Given the description of an element on the screen output the (x, y) to click on. 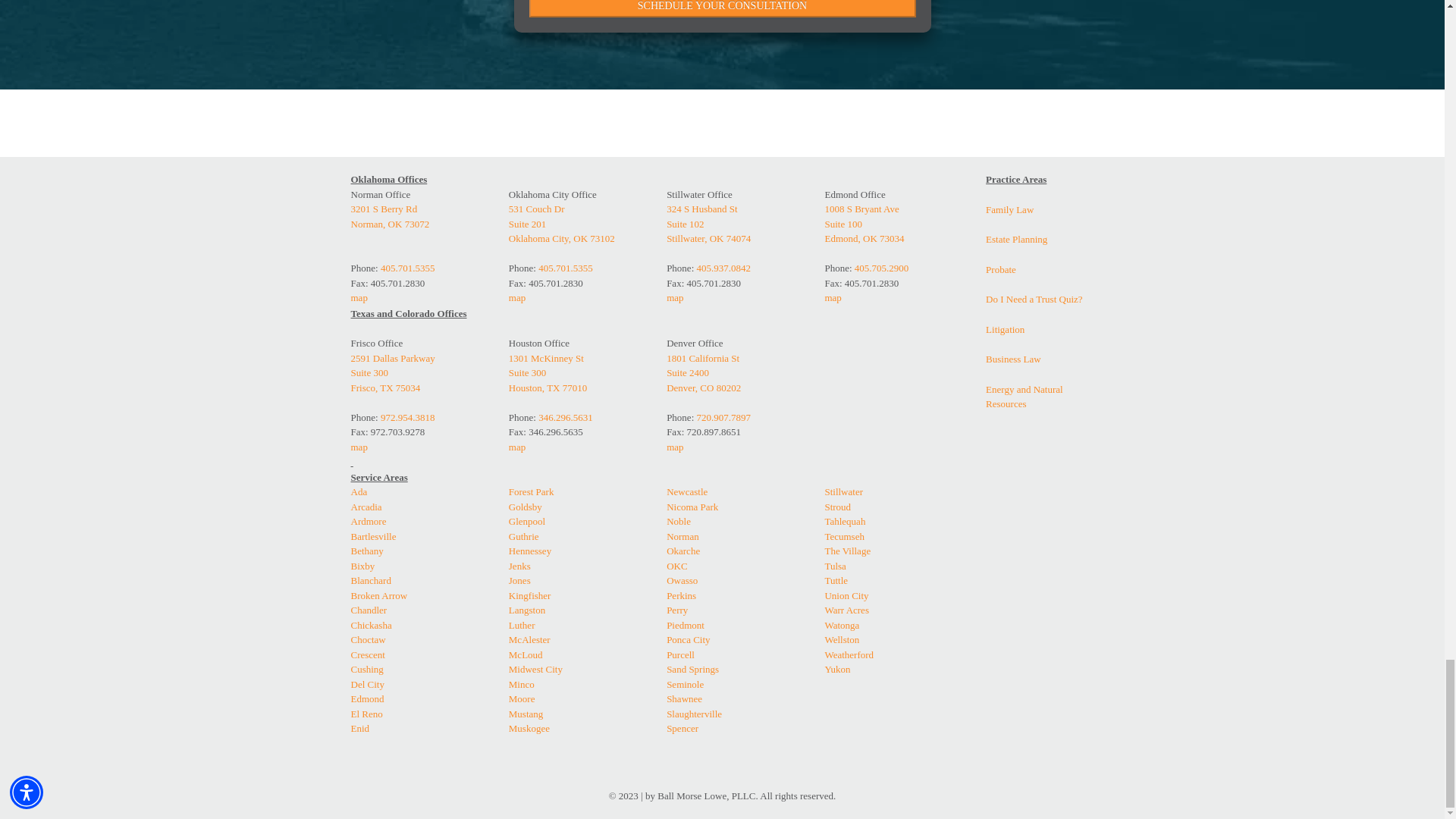
SCHEDULE YOUR CONSULTATION (722, 8)
